Given the description of an element on the screen output the (x, y) to click on. 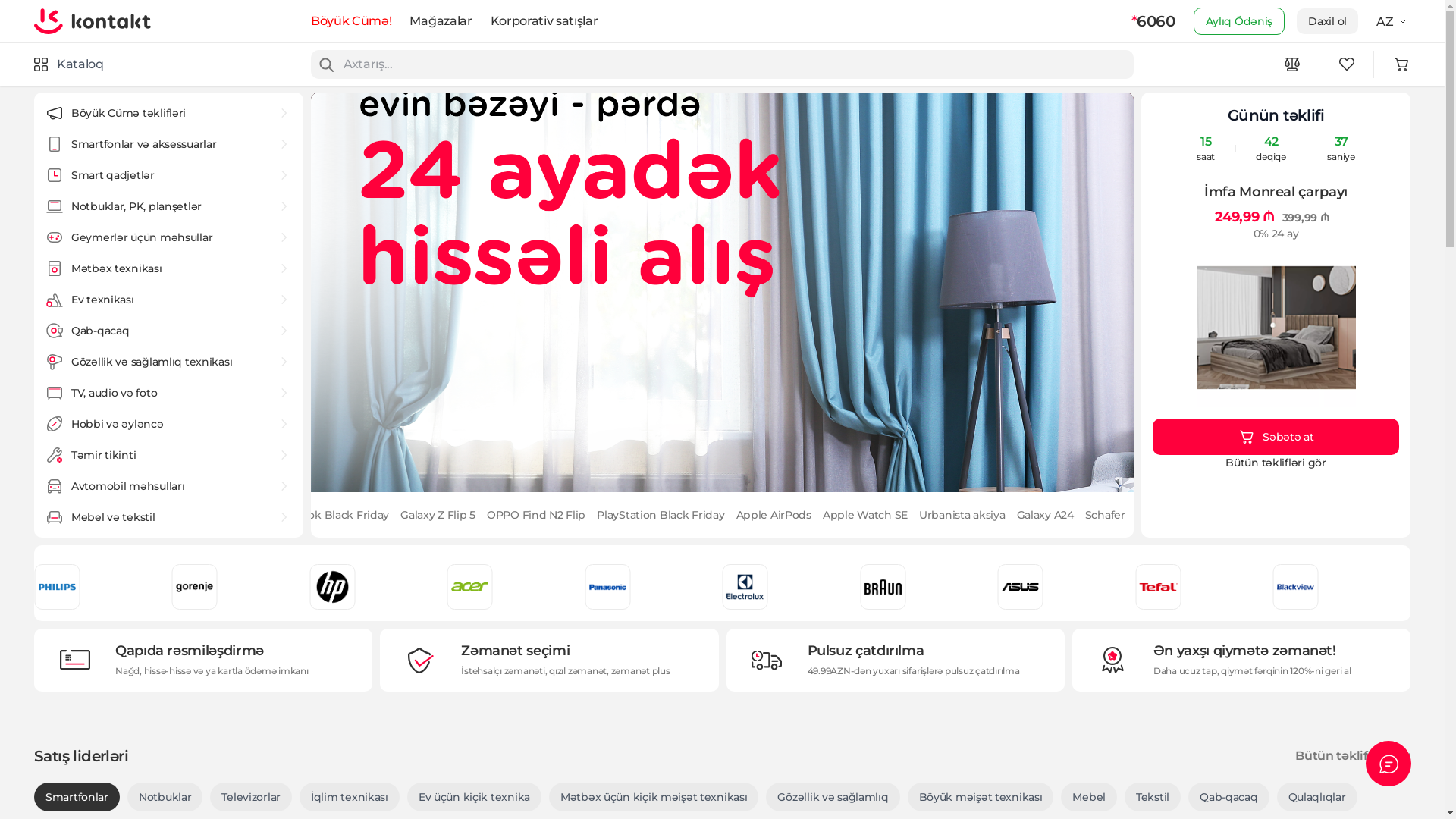
Qab-qacaq Element type: text (168, 330)
Tekstil Element type: text (1152, 796)
Televizorlar Element type: text (250, 796)
Qab-qacaq Element type: text (1228, 796)
Kataloq Element type: text (68, 64)
Mebel Element type: text (1088, 796)
Smartfonlar Element type: text (76, 796)
Notbuklar Element type: text (164, 796)
*6060 Element type: text (1153, 20)
Daxil ol Element type: text (1327, 21)
